Given the description of an element on the screen output the (x, y) to click on. 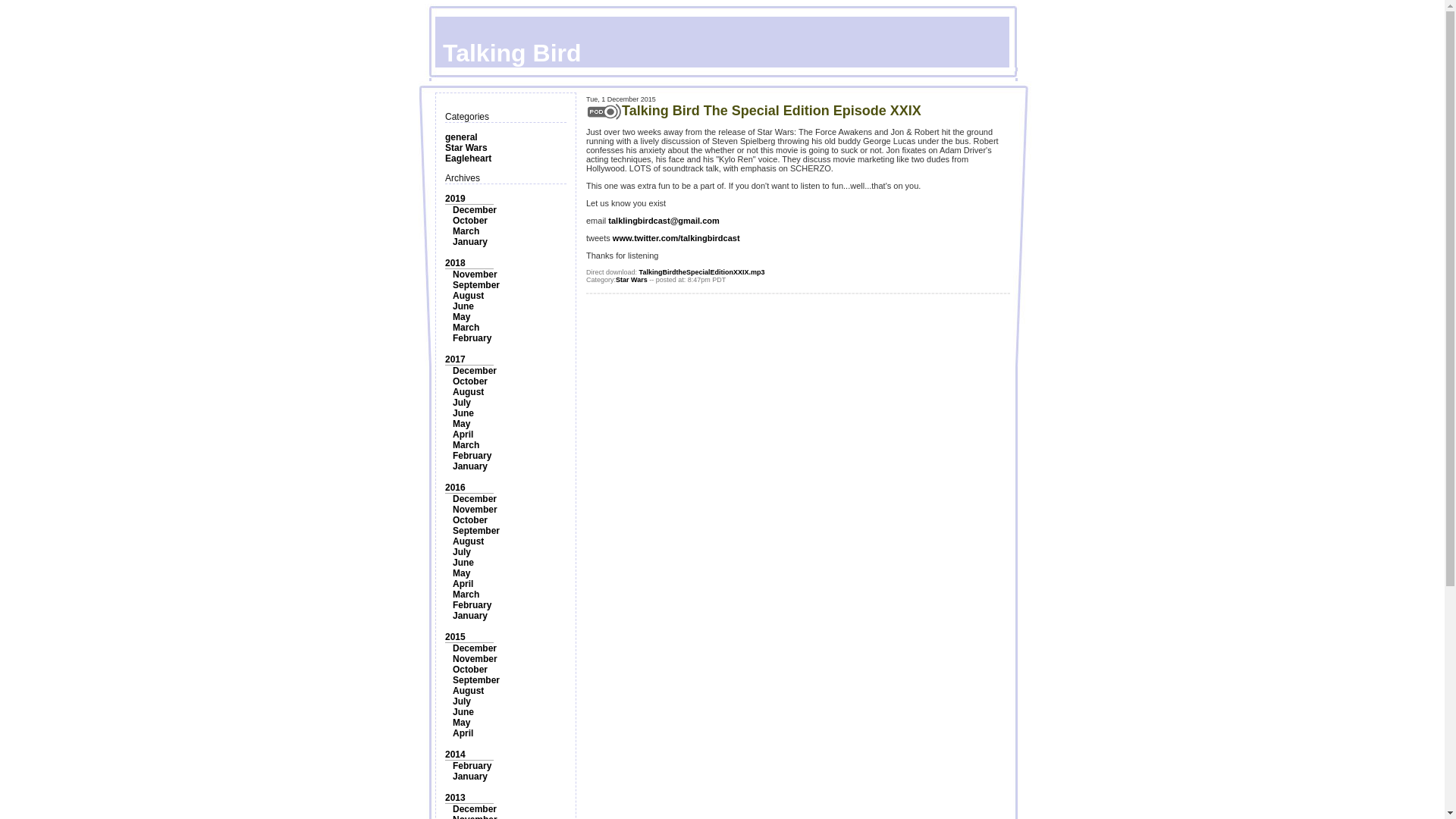
March (465, 593)
April (462, 583)
December (474, 498)
October (469, 220)
August (467, 295)
October (469, 520)
Star Wars (466, 147)
May (461, 317)
December (474, 209)
June (463, 562)
